Given the description of an element on the screen output the (x, y) to click on. 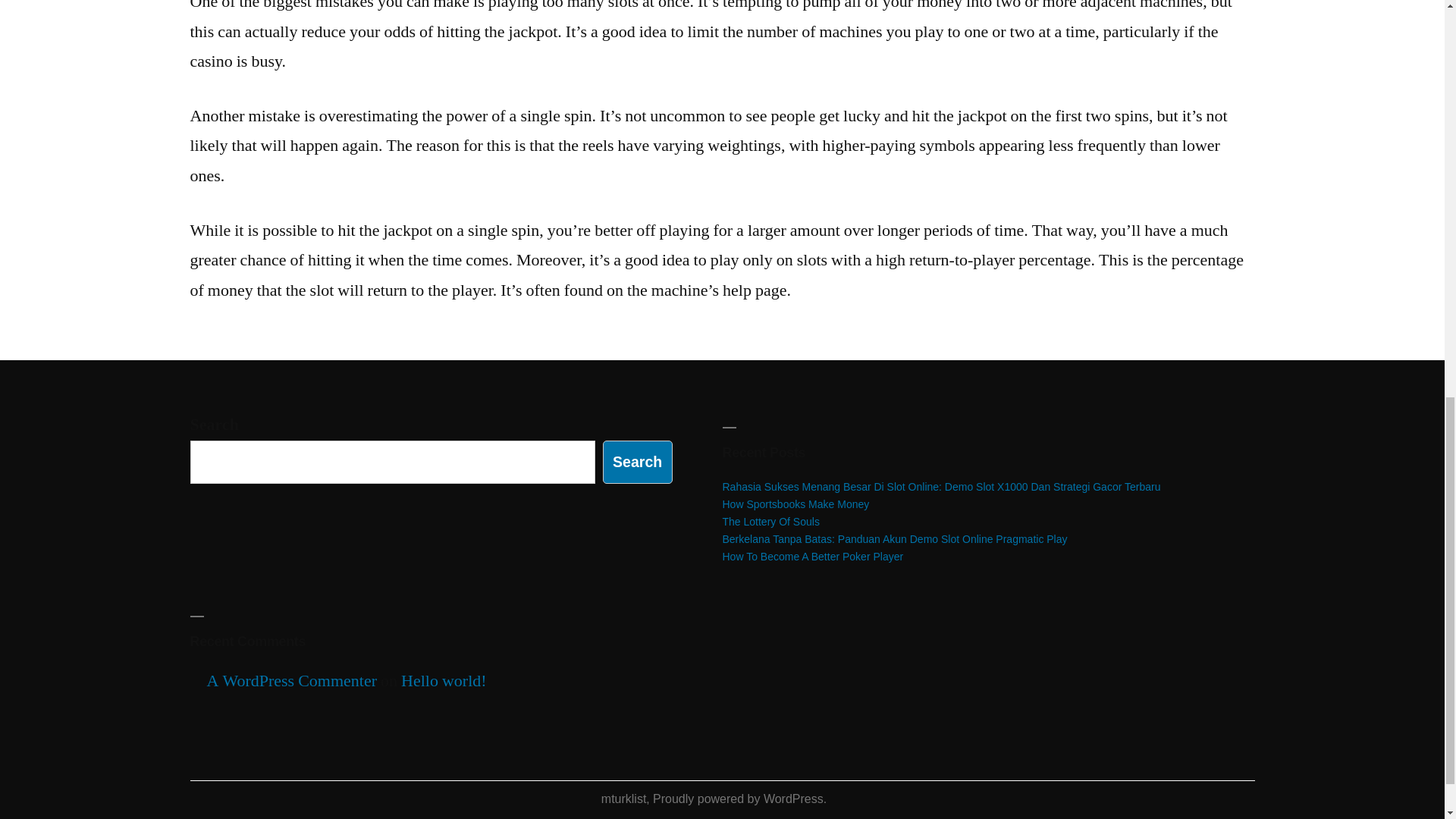
Search (637, 462)
Proudly powered by WordPress. (739, 798)
mturklist (623, 798)
The Lottery Of Souls (770, 521)
Hello world! (443, 680)
How To Become A Better Poker Player (812, 556)
How Sportsbooks Make Money (795, 503)
A WordPress Commenter (291, 680)
